Given the description of an element on the screen output the (x, y) to click on. 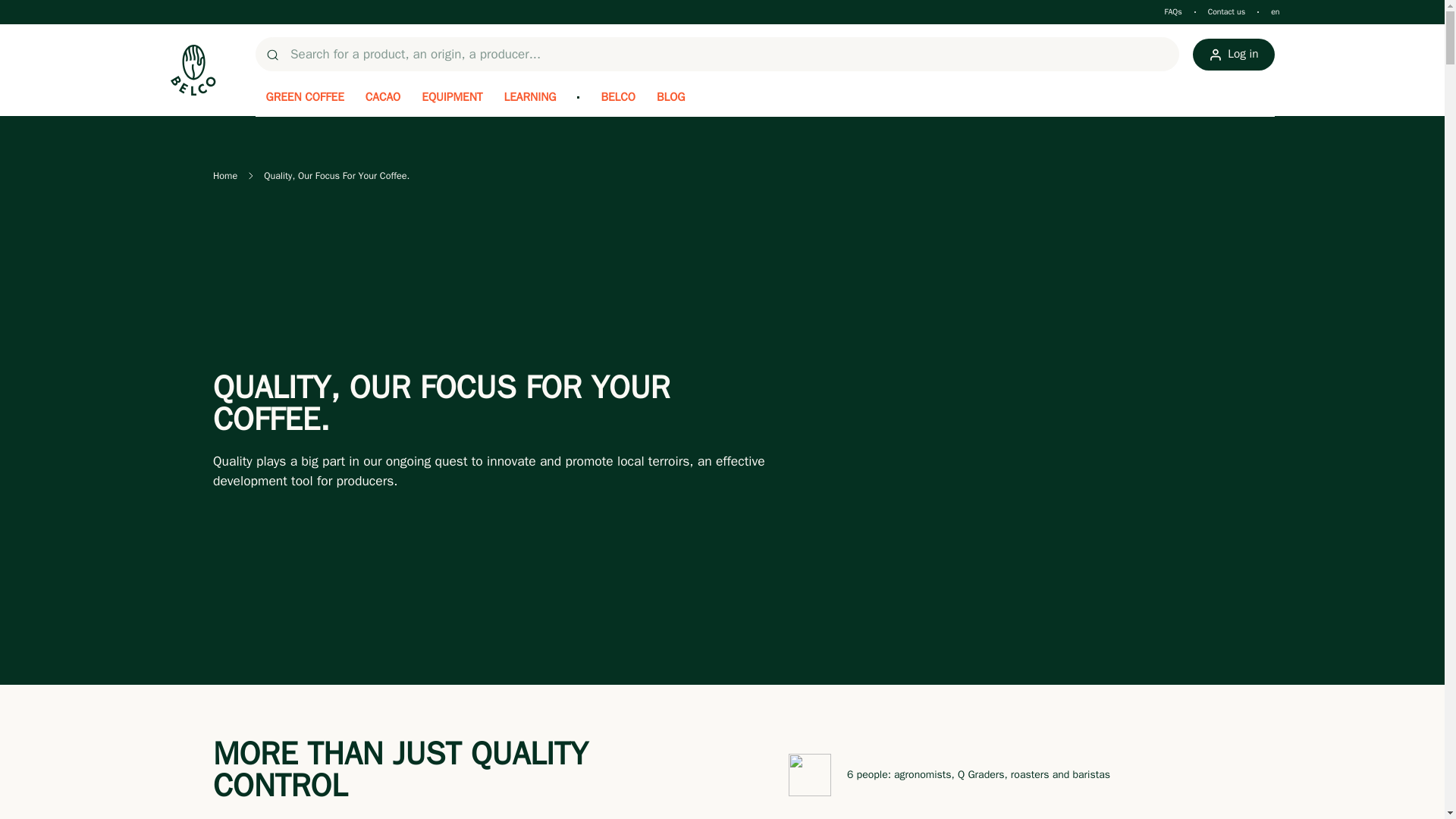
CACAO (382, 97)
Search for a product, an origin, a producer... (716, 54)
LEARNING (530, 97)
Contact us (1227, 11)
en (1275, 11)
GREEN COFFEE (303, 97)
fr (45, 30)
FAQs (1171, 11)
en (45, 17)
BELCO (617, 97)
EQUIPMENT (451, 97)
BLOG (670, 97)
